Given the description of an element on the screen output the (x, y) to click on. 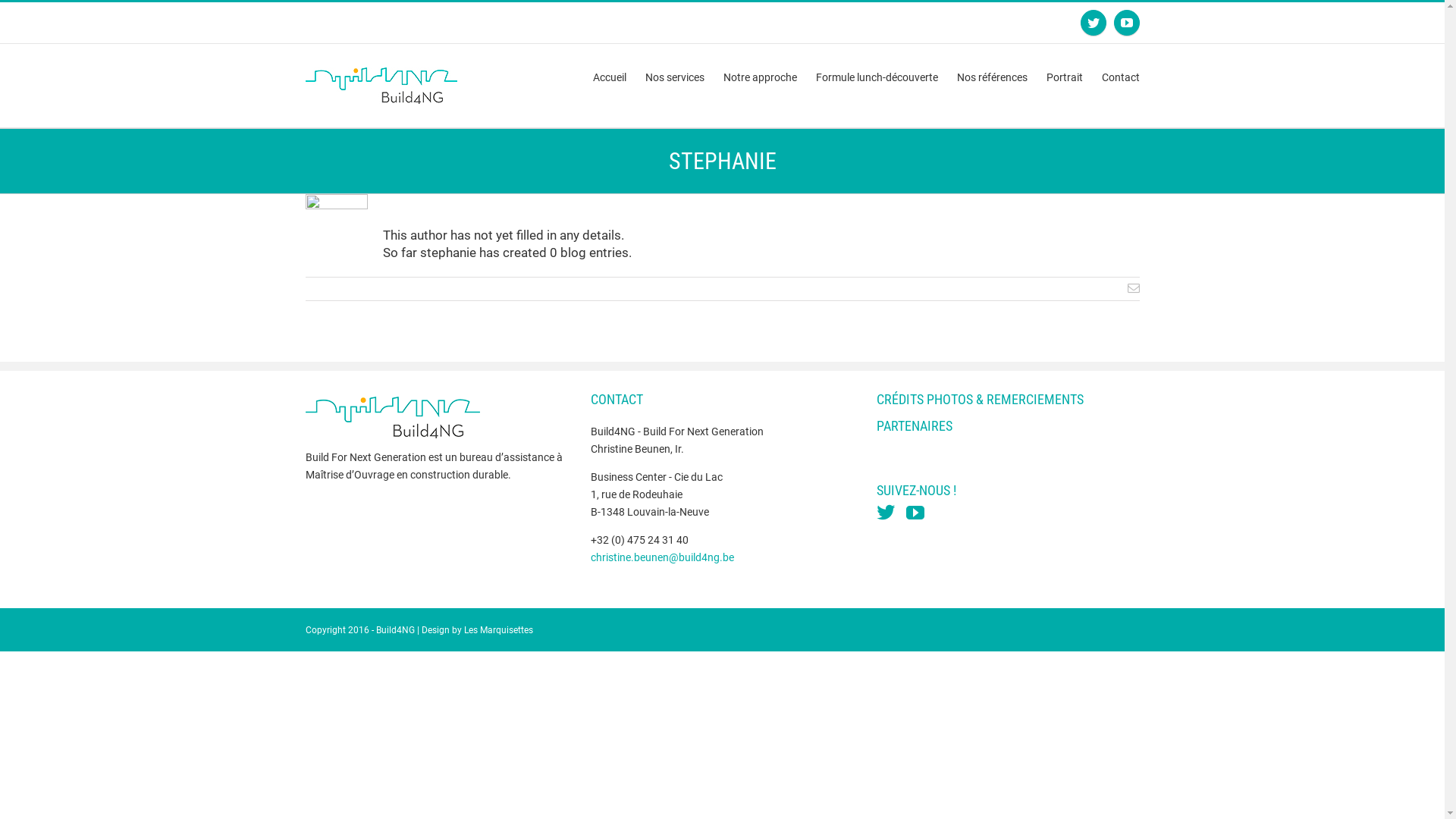
christine.beunen@build4ng.be Element type: text (662, 557)
Portrait Element type: text (1064, 76)
Contact Element type: text (1120, 76)
Notre approche Element type: text (760, 76)
Accueil Element type: text (609, 76)
Nos services Element type: text (673, 76)
Les Marquisettes Element type: text (498, 629)
PARTENAIRES Element type: text (914, 425)
